Given the description of an element on the screen output the (x, y) to click on. 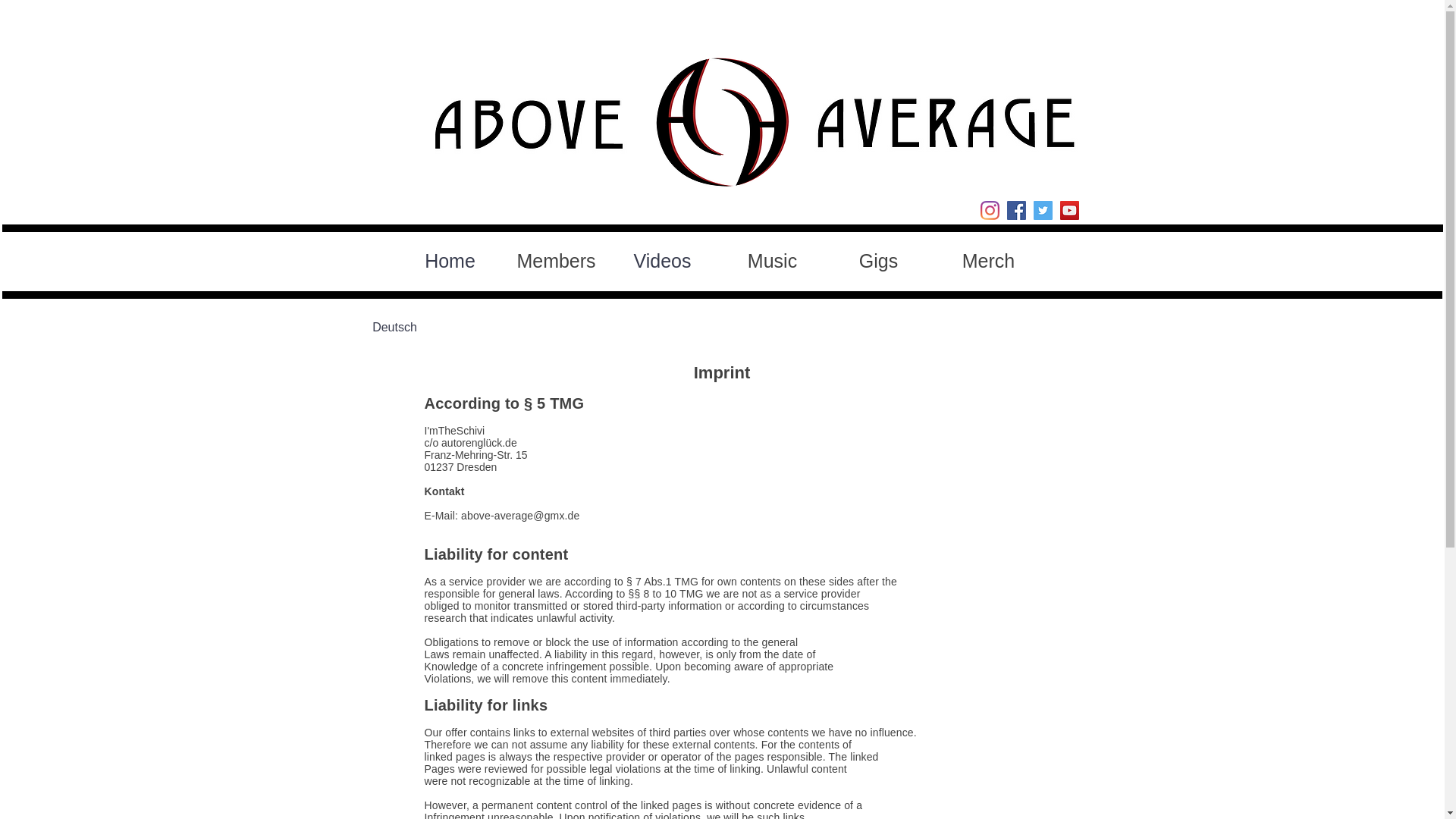
website logo.png (721, 122)
Home (449, 260)
Deutsch (394, 327)
Music (773, 260)
website average.png (945, 123)
Merch (988, 260)
Videos (662, 260)
website above.png (533, 123)
Gigs (879, 260)
Members (556, 260)
